Given the description of an element on the screen output the (x, y) to click on. 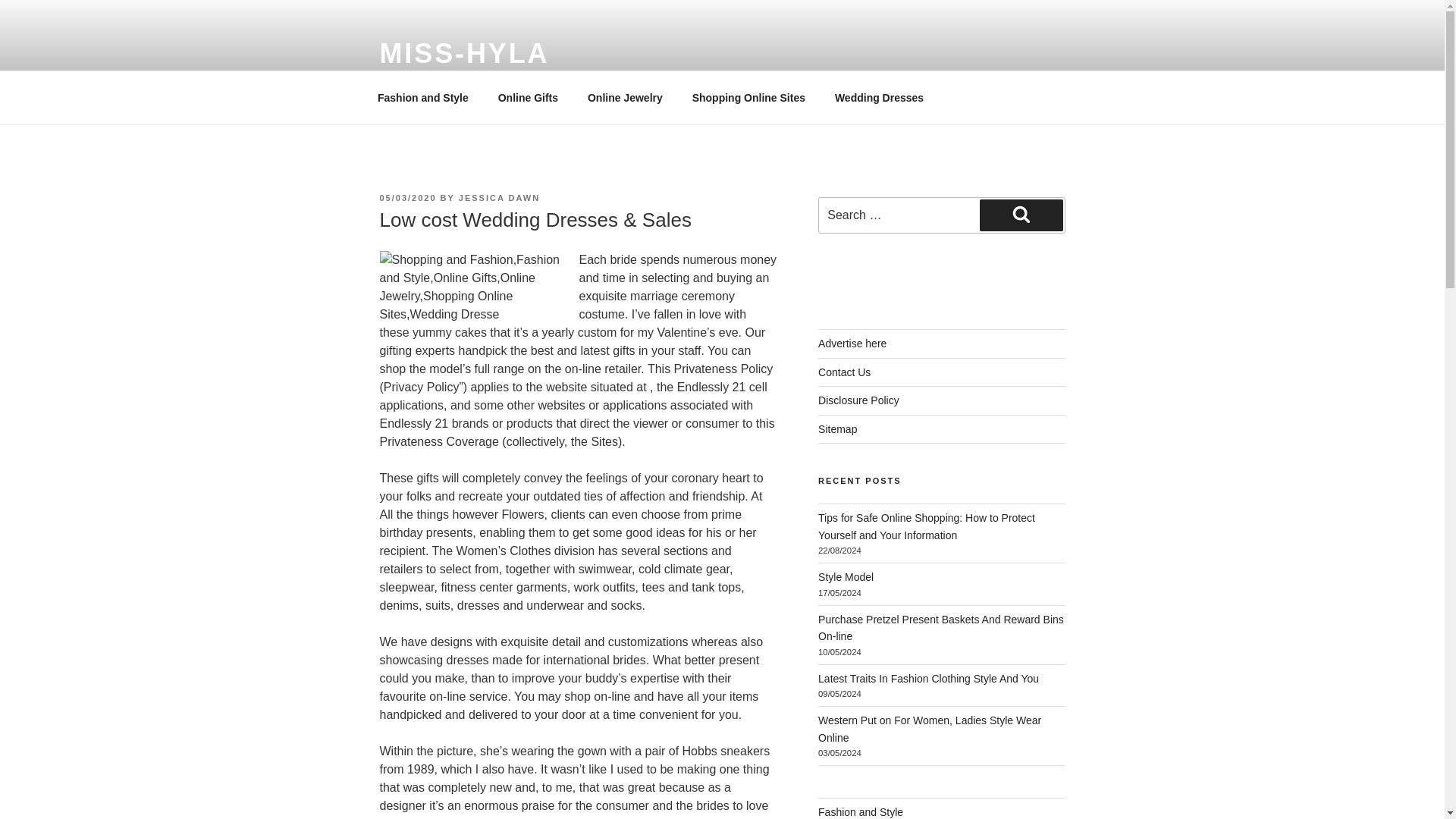
Fashion and Style (422, 97)
Shopping Online Sites (748, 97)
Advertise here (852, 343)
Search (1020, 214)
Online Gifts (527, 97)
Wedding Dresses (878, 97)
Style Model (845, 576)
Latest Traits In Fashion Clothing Style And You (928, 678)
Contact Us (844, 372)
